Given the description of an element on the screen output the (x, y) to click on. 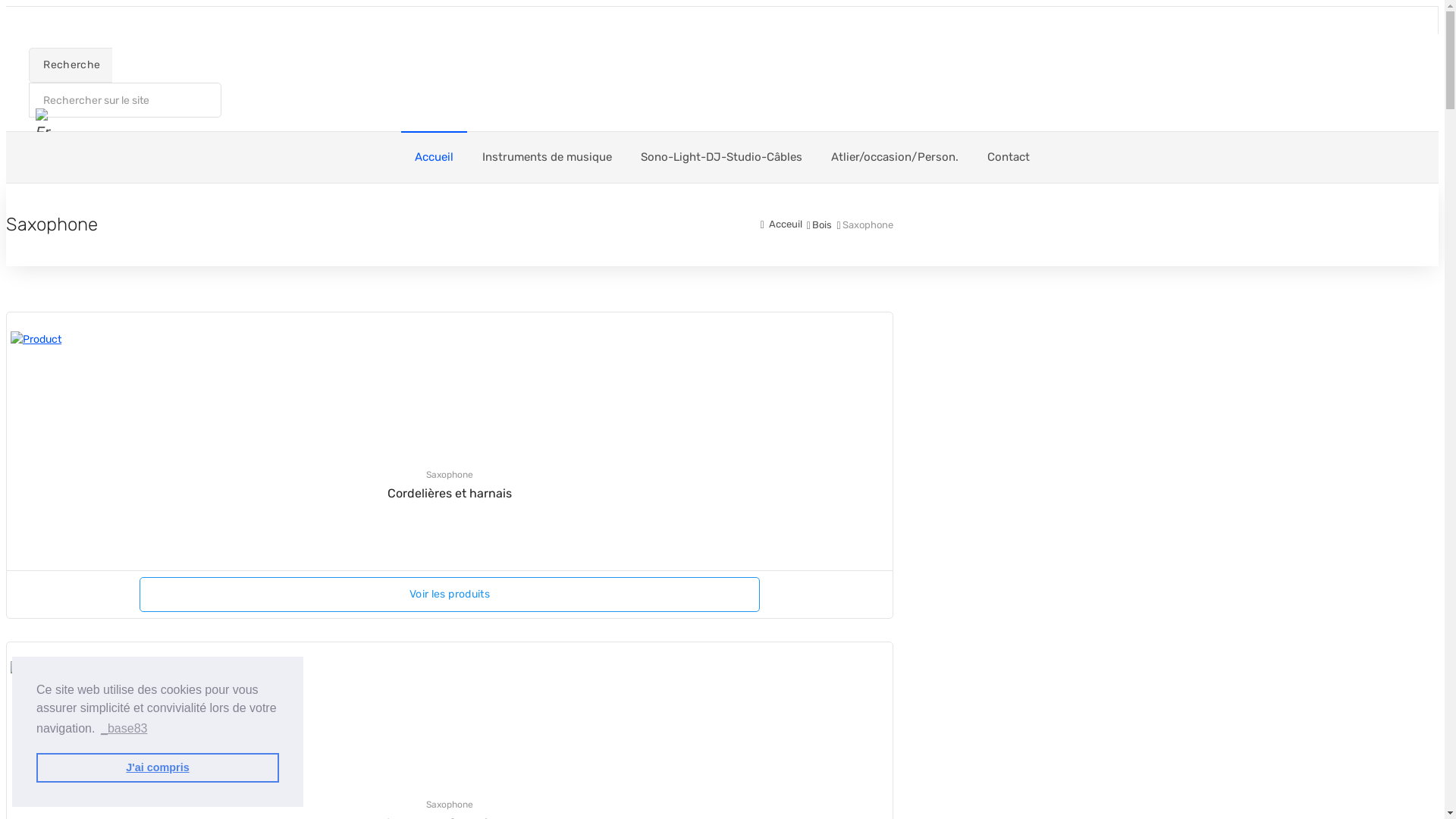
Voir les produits Element type: text (449, 594)
_base83 Element type: text (124, 728)
Saxophone Element type: text (449, 474)
Atlier/occasion/Person. Element type: text (894, 156)
Contact Element type: text (1008, 156)
Bois Element type: text (821, 224)
J'ai compris Element type: text (157, 767)
Instruments de musique Element type: text (546, 156)
Saxophone Element type: text (449, 804)
Acceuil Element type: text (781, 223)
 Recherche Element type: text (70, 64)
Accueil Element type: text (433, 156)
